Given the description of an element on the screen output the (x, y) to click on. 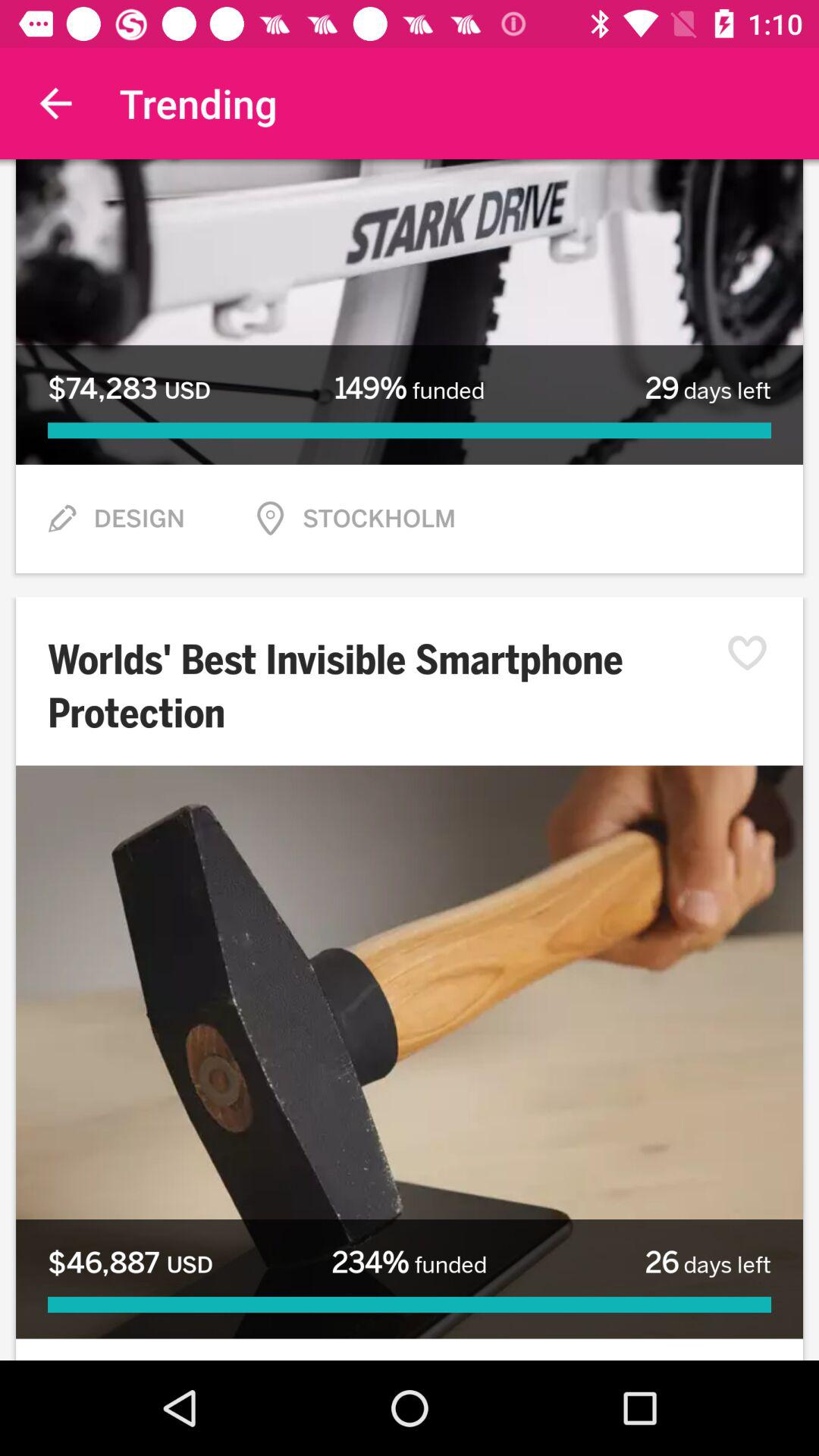
swipe to the 149% funded icon (409, 388)
